Given the description of an element on the screen output the (x, y) to click on. 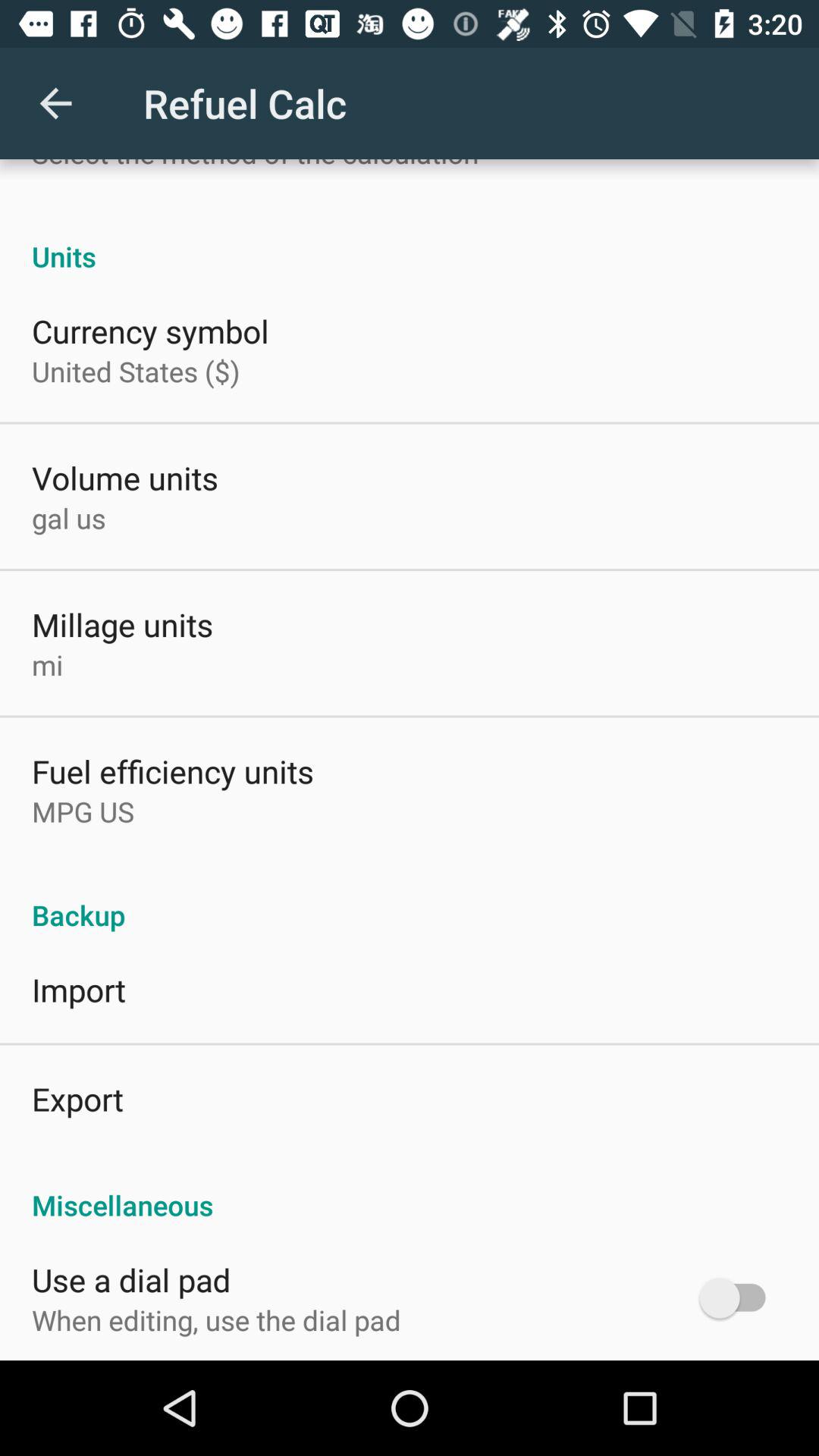
turn off item below millage units (47, 664)
